Given the description of an element on the screen output the (x, y) to click on. 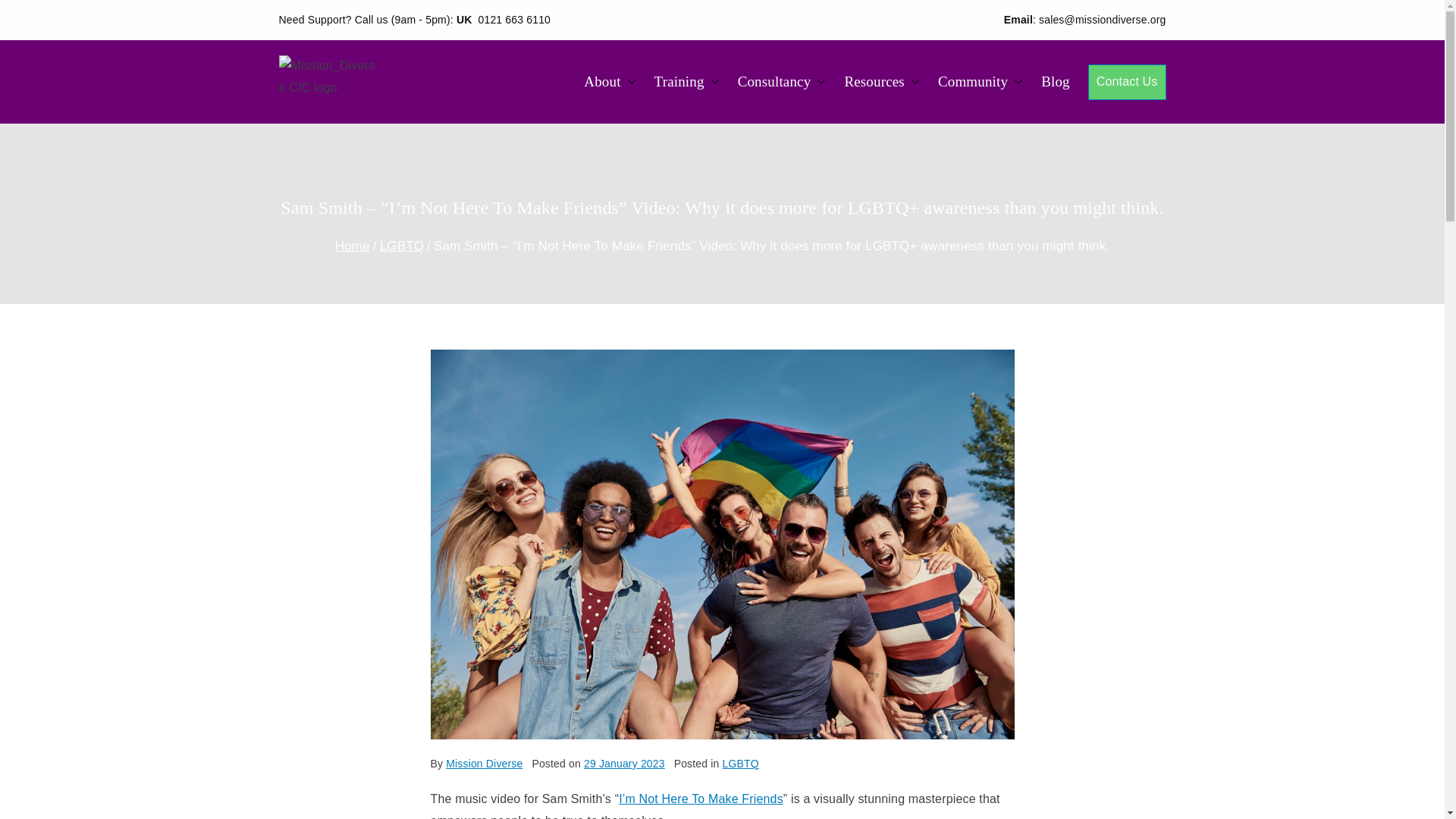
About (608, 81)
0121 663 6110 (515, 19)
Training (686, 81)
Resources (882, 81)
Mission Diverse (510, 101)
Consultancy (782, 81)
